Given the description of an element on the screen output the (x, y) to click on. 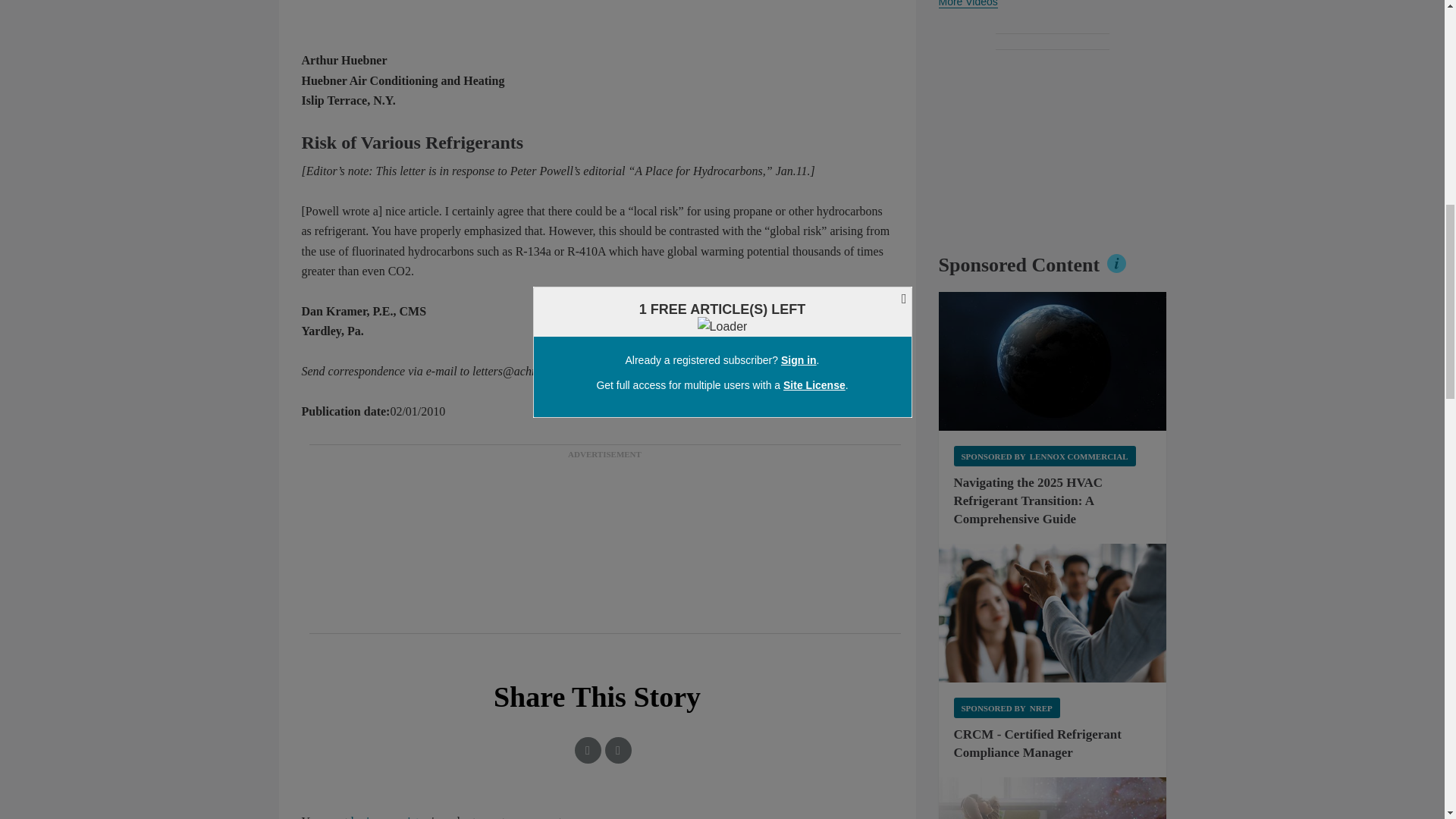
Daiken Refrigerants (1052, 798)
Sponsored by NREP (1006, 707)
CRCM Certified Refrigerant Compliance Manager (1052, 613)
Sponsored by Lennox Commercial (1044, 455)
Earth (1052, 361)
